Given the description of an element on the screen output the (x, y) to click on. 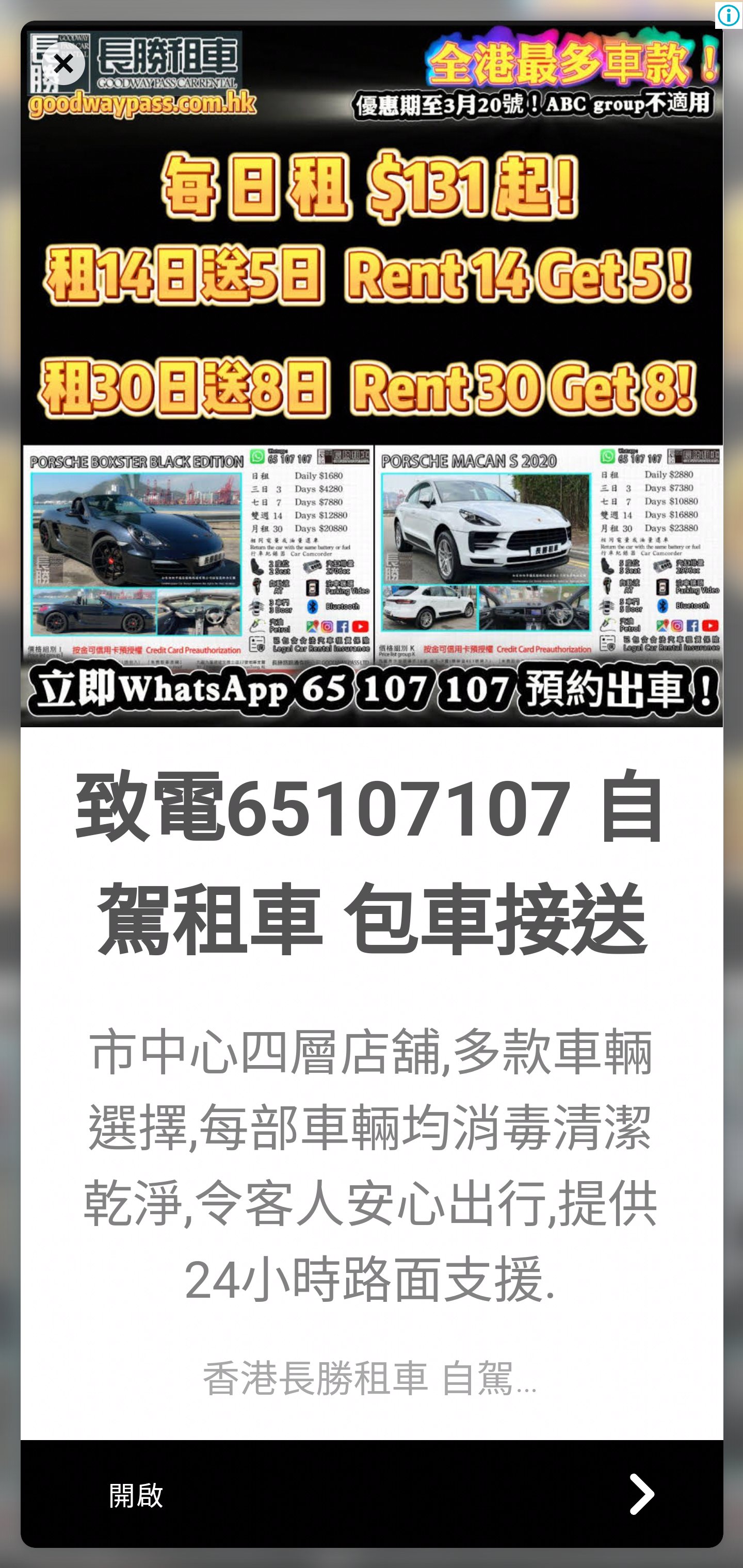
goodwaypass.com (371, 373)
致電65107107 自 駕租車 包車接送 致電65107107 自 
 駕租車 包車接送 (369, 866)
香港長勝租車 自駕… (369, 1377)
開啟 (371, 1493)
